Given the description of an element on the screen output the (x, y) to click on. 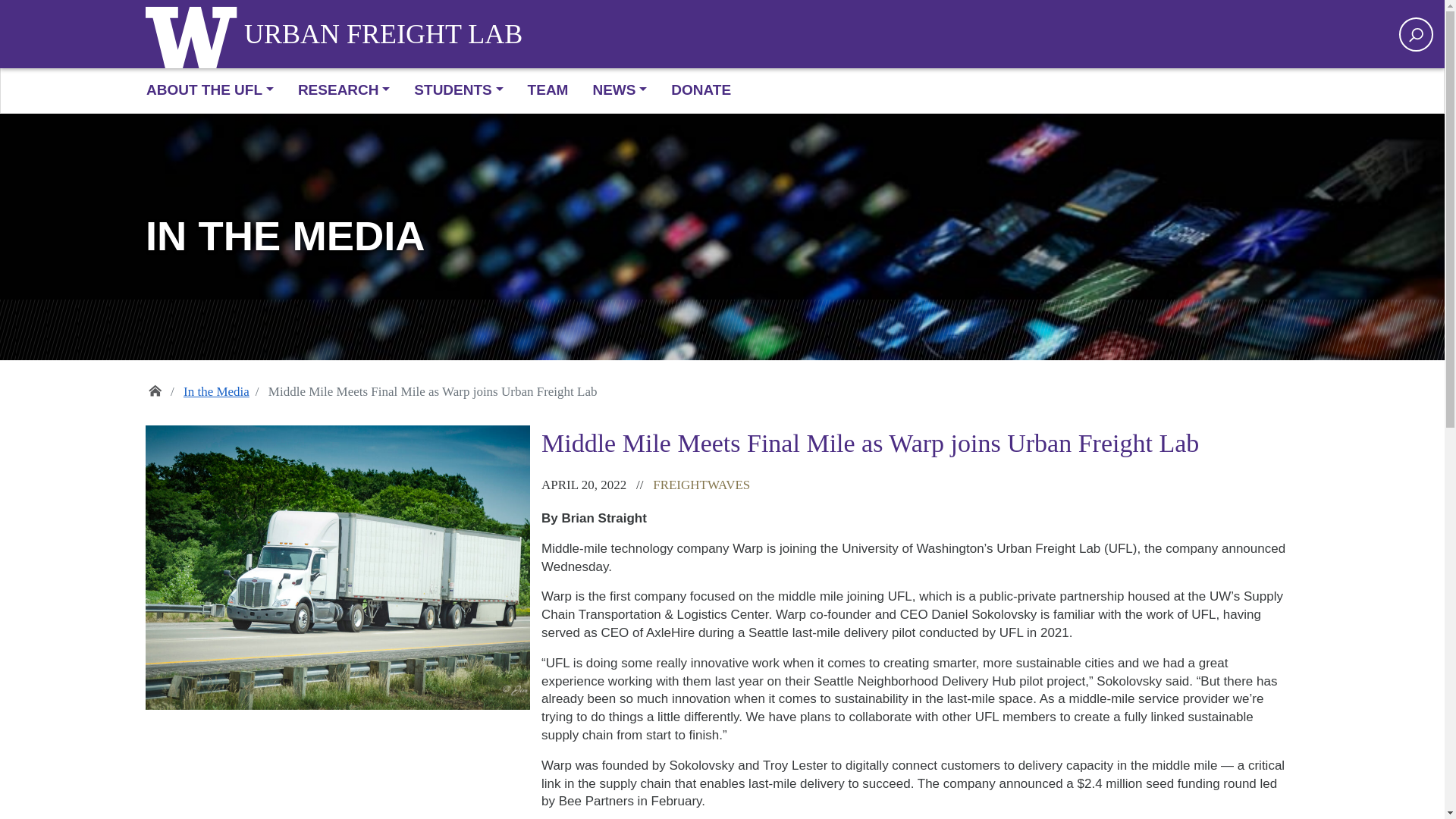
Urban Freight Lab: In the Media (721, 236)
TEAM (547, 90)
In the Media (225, 392)
ABOUT THE UFL (216, 90)
University of Washington (194, 33)
RESEARCH (343, 90)
University of Washington Home (194, 33)
Urban Freight Lab (383, 34)
URBAN FREIGHT LAB (383, 34)
STUDENTS (458, 90)
